Given the description of an element on the screen output the (x, y) to click on. 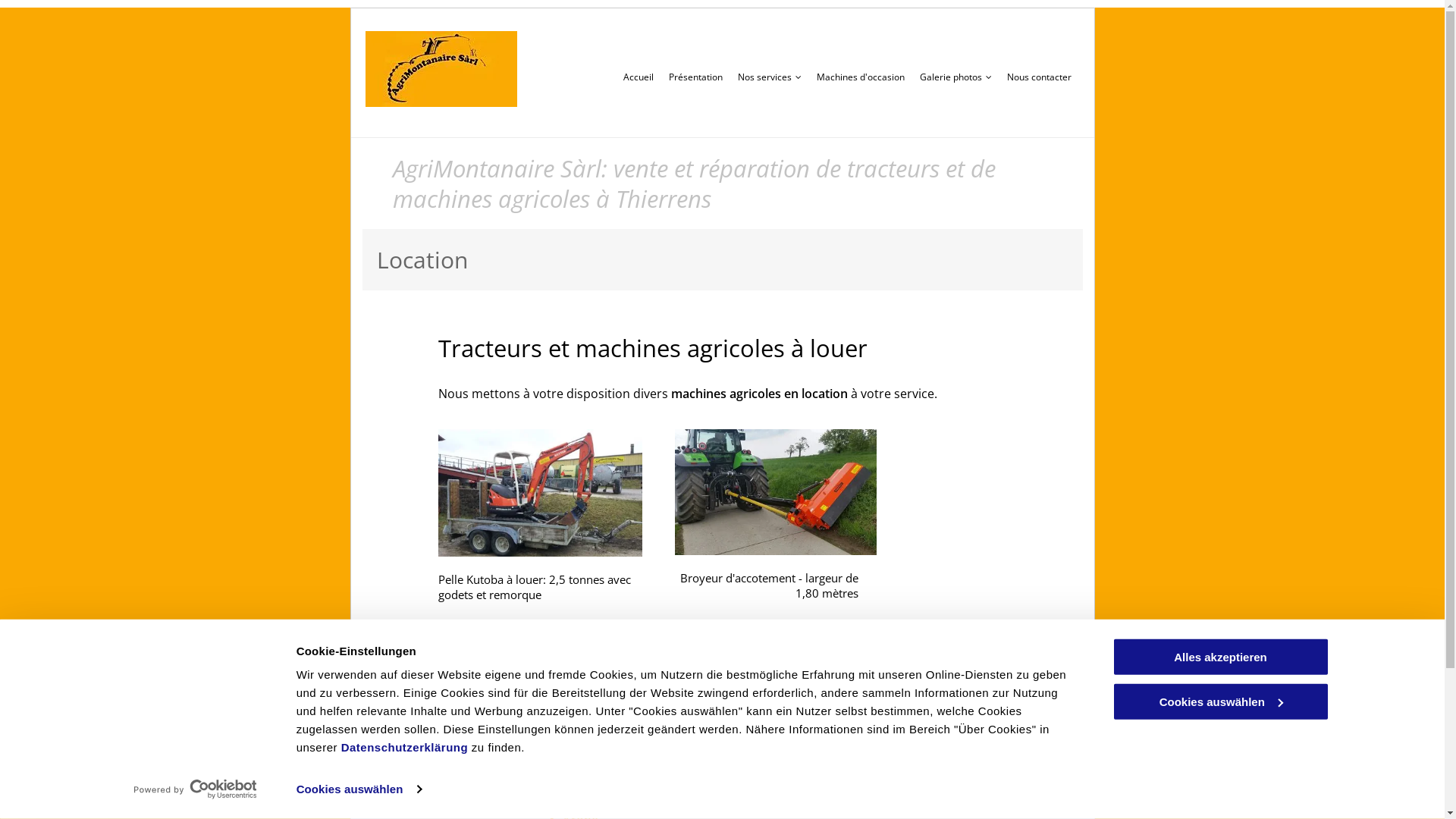
Deutz Fahr Element type: text (593, 798)
Galerie photos Element type: text (955, 76)
Nous contacter Element type: text (1039, 76)
Accueil Element type: text (638, 76)
Partager Element type: text (983, 800)
Partager Element type: text (983, 799)
Machines d'occasion Element type: text (860, 76)
Alles akzeptieren Element type: text (1219, 656)
machines agricoles en location Element type: text (758, 393)
NOUVEAUX 6 Element type: text (420, 797)
nous contacter pour plus de renseignements Element type: text (657, 636)
Nos services Element type: text (769, 76)
